Given the description of an element on the screen output the (x, y) to click on. 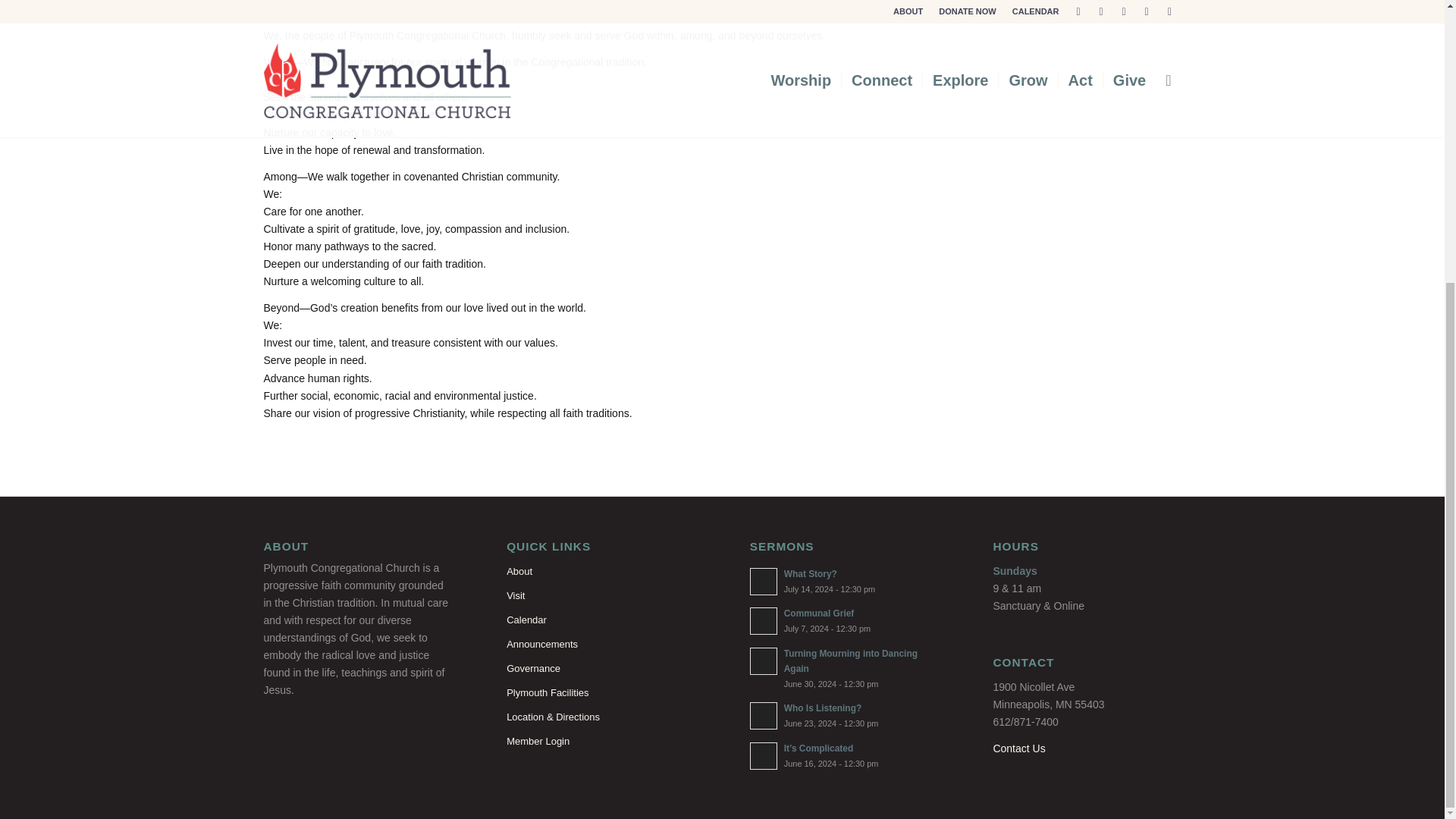
What Story? (843, 581)
Announcements (843, 581)
Turning Mourning into Dancing Again (600, 644)
Visit (843, 668)
Who Is Listening? (600, 595)
Member Login (843, 715)
Communal Grief (600, 741)
Governance (843, 715)
Plymouth Facilities (843, 620)
About (843, 668)
Calendar (600, 668)
